Given the description of an element on the screen output the (x, y) to click on. 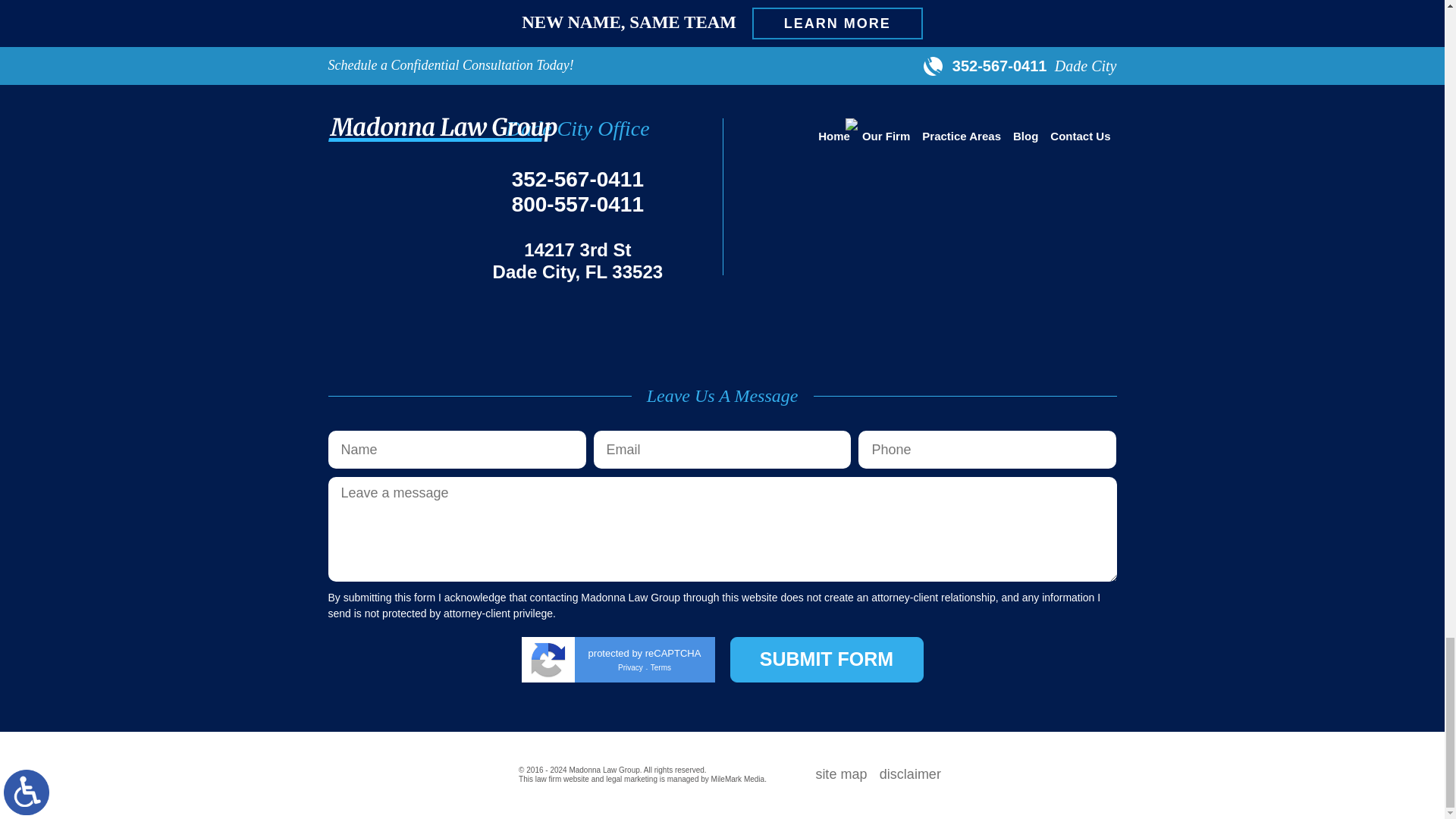
Submit Form (826, 659)
